Given the description of an element on the screen output the (x, y) to click on. 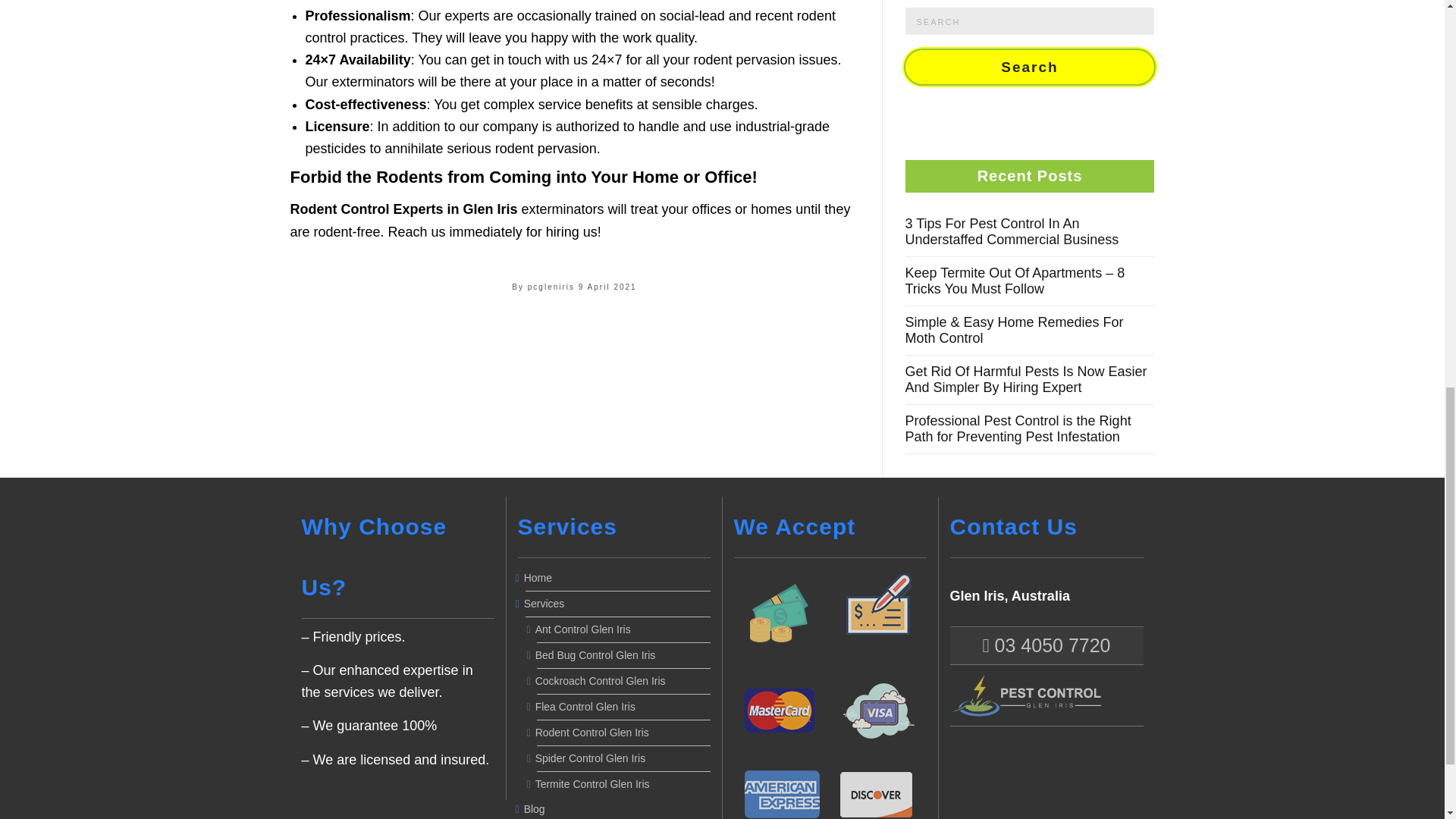
Search (1029, 66)
Home (617, 578)
Ant Control Glen Iris (623, 629)
Search (1029, 66)
Services (617, 604)
